Given the description of an element on the screen output the (x, y) to click on. 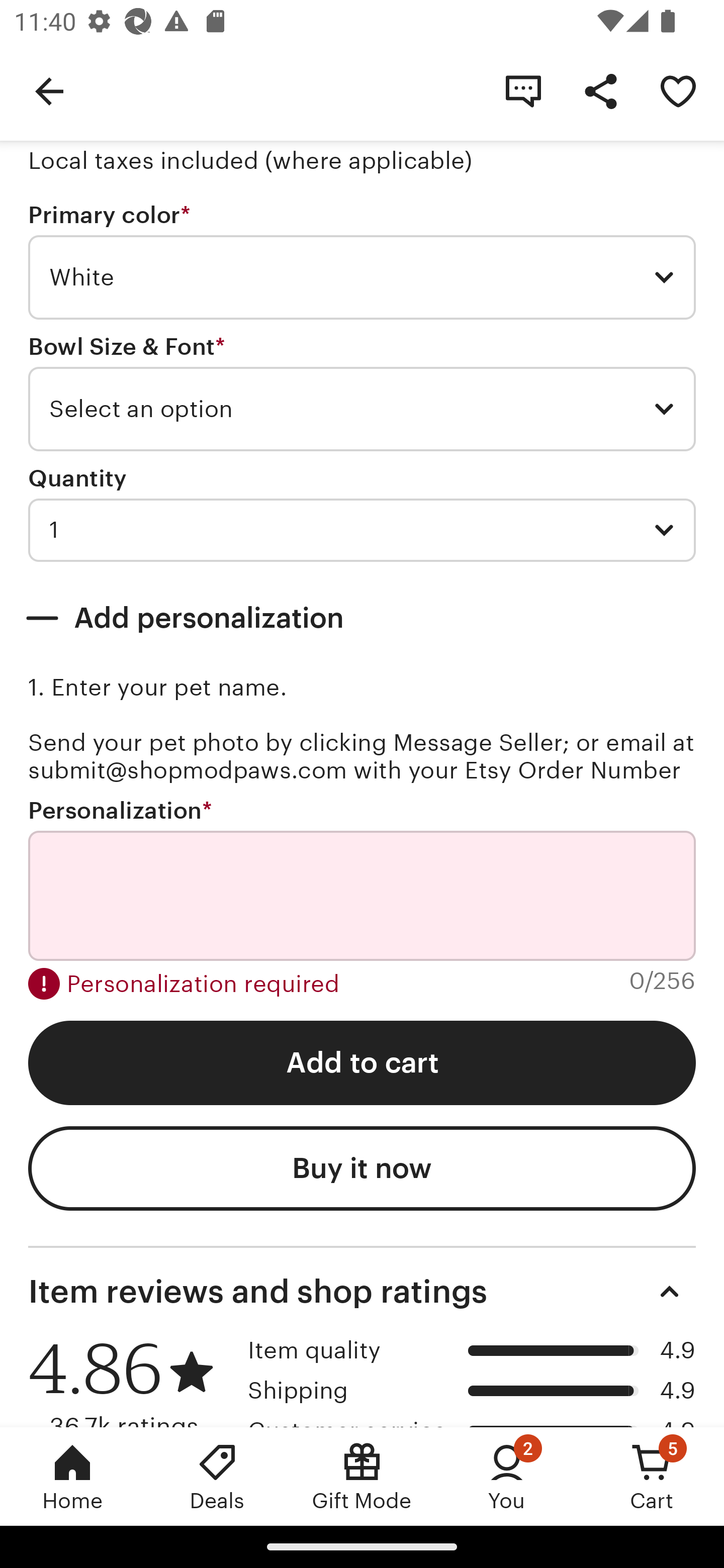
Navigate up (49, 90)
Contact shop (523, 90)
Share (600, 90)
Primary color * Required White (361, 260)
White (361, 277)
Bowl Size & Font * Required Select an option (361, 392)
Select an option (361, 408)
Quantity (77, 477)
1 (361, 529)
Add personalization Add personalization Required (362, 617)
Add to cart (361, 1062)
Buy it now (361, 1167)
Item reviews and shop ratings (362, 1291)
Deals (216, 1475)
Gift Mode (361, 1475)
You, 2 new notifications You (506, 1475)
Cart, 5 new notifications Cart (651, 1475)
